Given the description of an element on the screen output the (x, y) to click on. 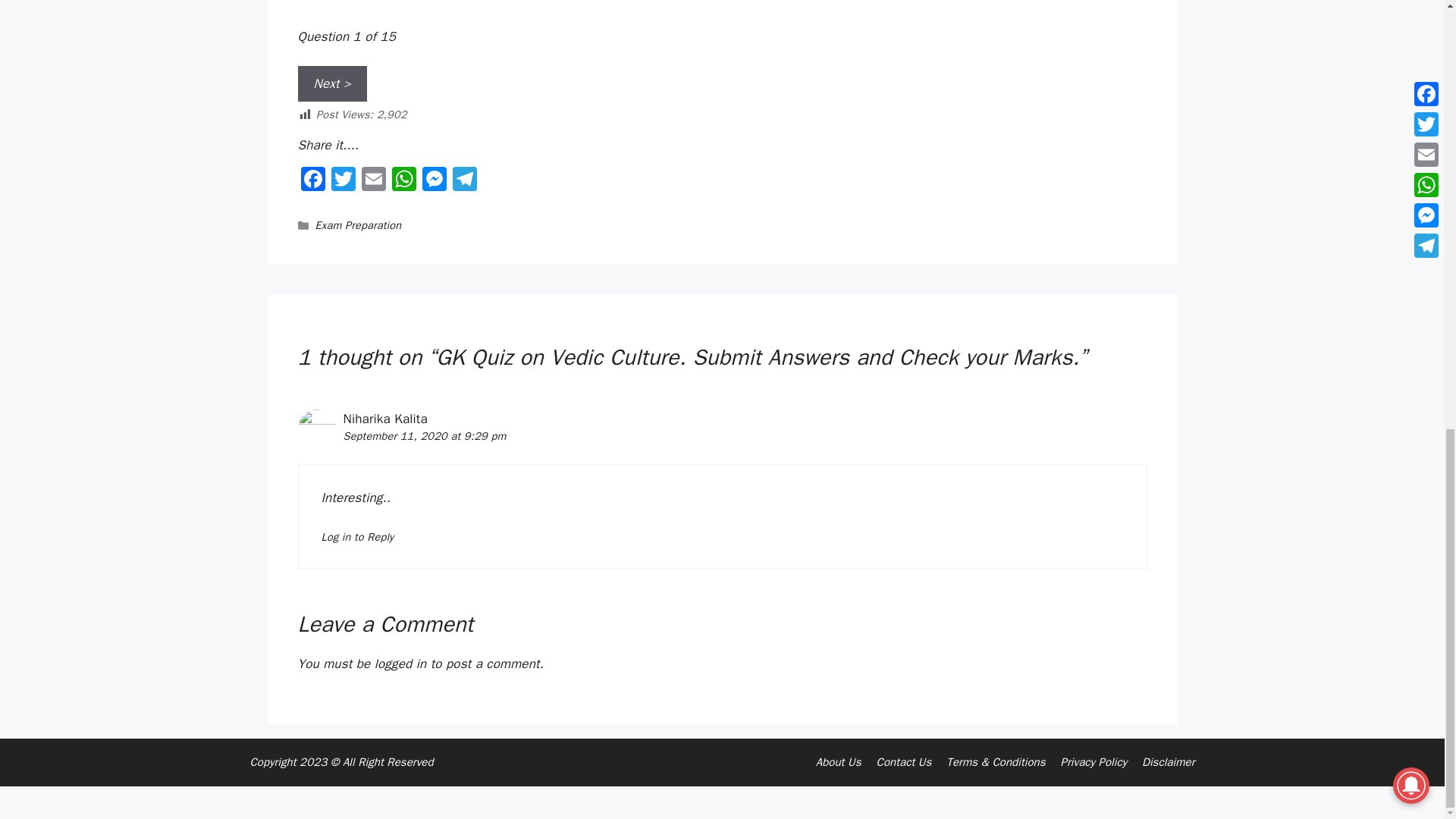
Twitter (342, 181)
logged in (400, 663)
Log in to Reply (357, 536)
Facebook (312, 181)
September 11, 2020 at 9:29 pm (423, 436)
Twitter (342, 181)
Telegram (463, 181)
Email (373, 181)
Disclaimer (1168, 762)
WhatsApp (403, 181)
Exam Preparation (358, 224)
Messenger (433, 181)
About Us (838, 762)
Contact Us (903, 762)
Privacy Policy (1093, 762)
